Given the description of an element on the screen output the (x, y) to click on. 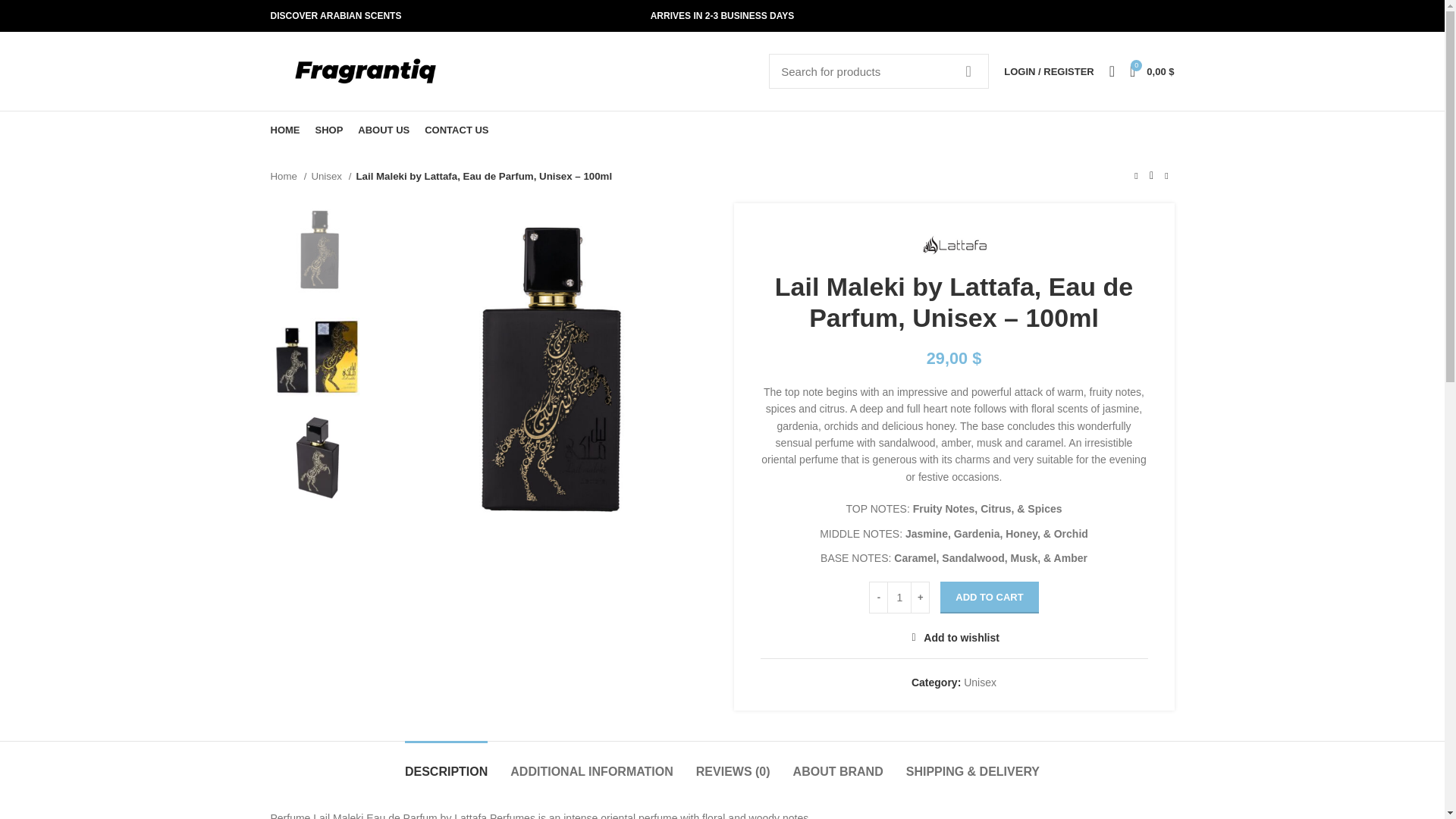
ABOUT US (383, 130)
lattafa-copy (542, 369)
Lattafa (954, 244)
SHOP (328, 130)
Add to wishlist (953, 637)
DESCRIPTION (445, 764)
My account (1047, 71)
Home (287, 176)
CONTACT US (456, 130)
lattafa-u-copy.jpg (316, 457)
ADD TO CART (989, 597)
Shopping cart (1151, 71)
ABOUT BRAND (838, 764)
SEARCH (968, 71)
Log in (969, 309)
